Given the description of an element on the screen output the (x, y) to click on. 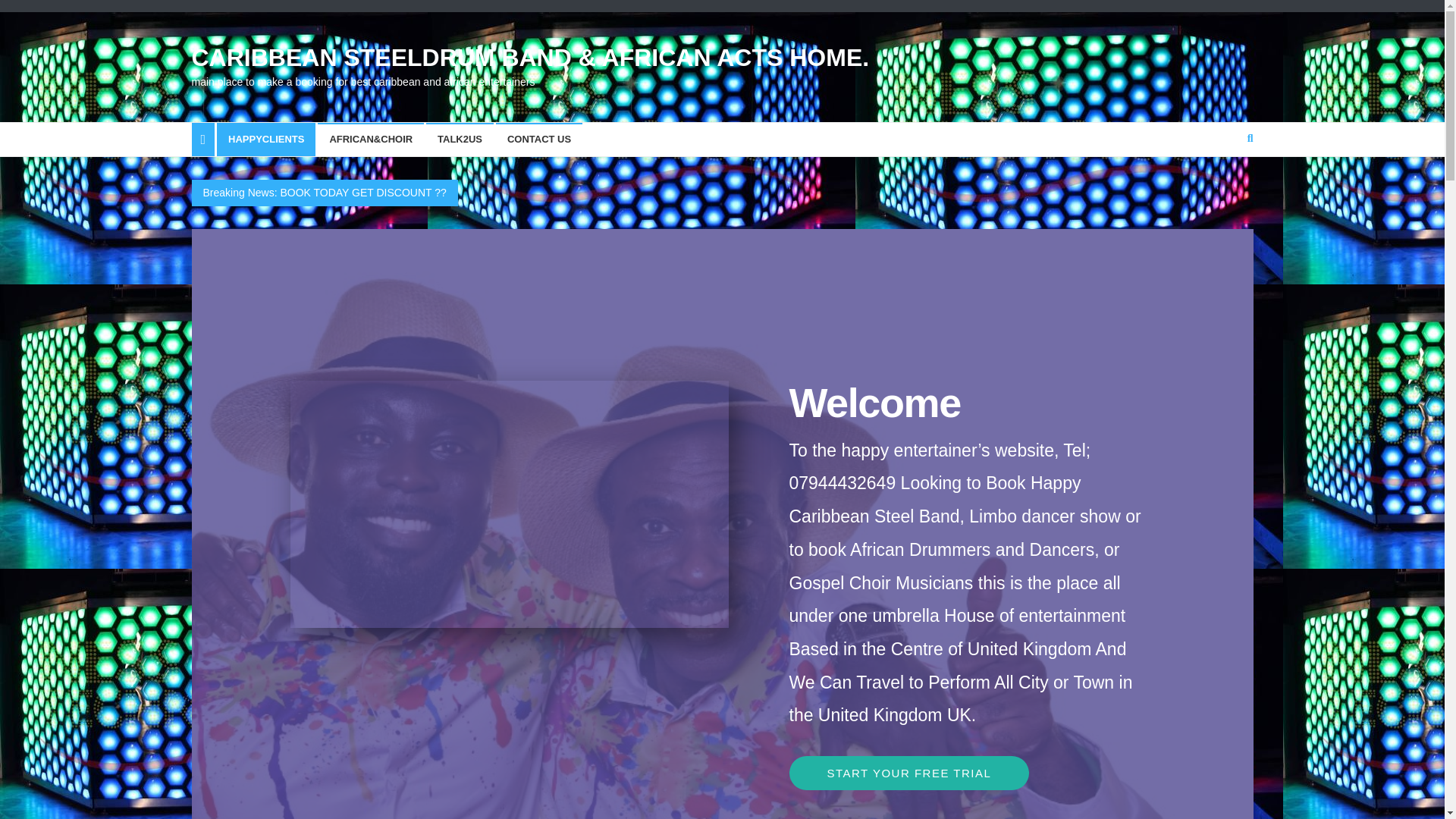
HAPPYCLIENTS (265, 139)
CONTACT US (539, 139)
Search (1221, 188)
TALK2US (459, 139)
START YOUR FREE TRIAL (909, 772)
